Given the description of an element on the screen output the (x, y) to click on. 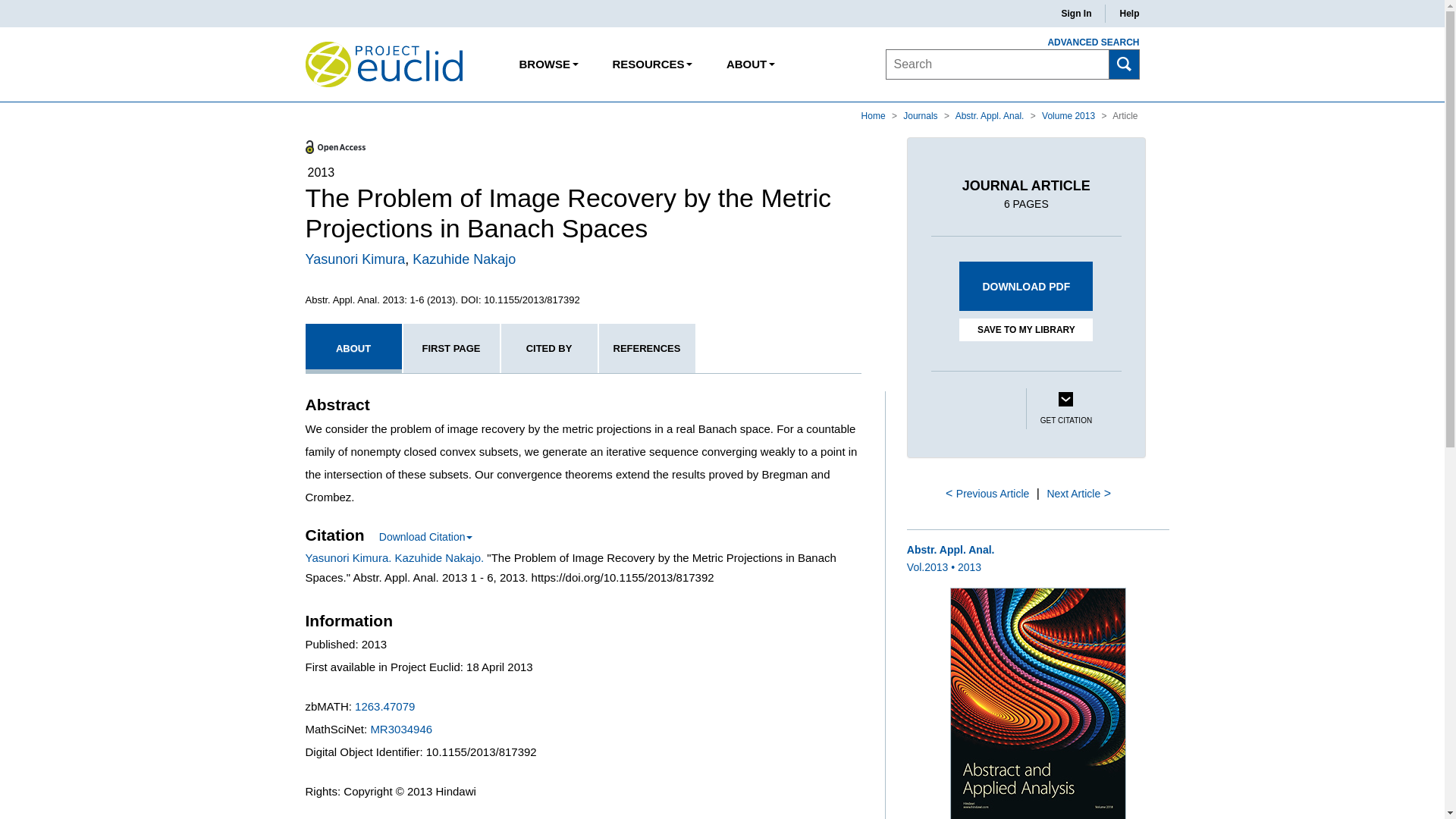
Journals (921, 115)
About (750, 64)
BROWSE (549, 64)
Volume 2013 (1069, 115)
Subscriptions and Access (651, 64)
FIRST PAGE (451, 348)
Sign In (1075, 13)
Abstr. Appl. Anal. (990, 115)
ABOUT (750, 64)
REFERENCES (646, 348)
